Given the description of an element on the screen output the (x, y) to click on. 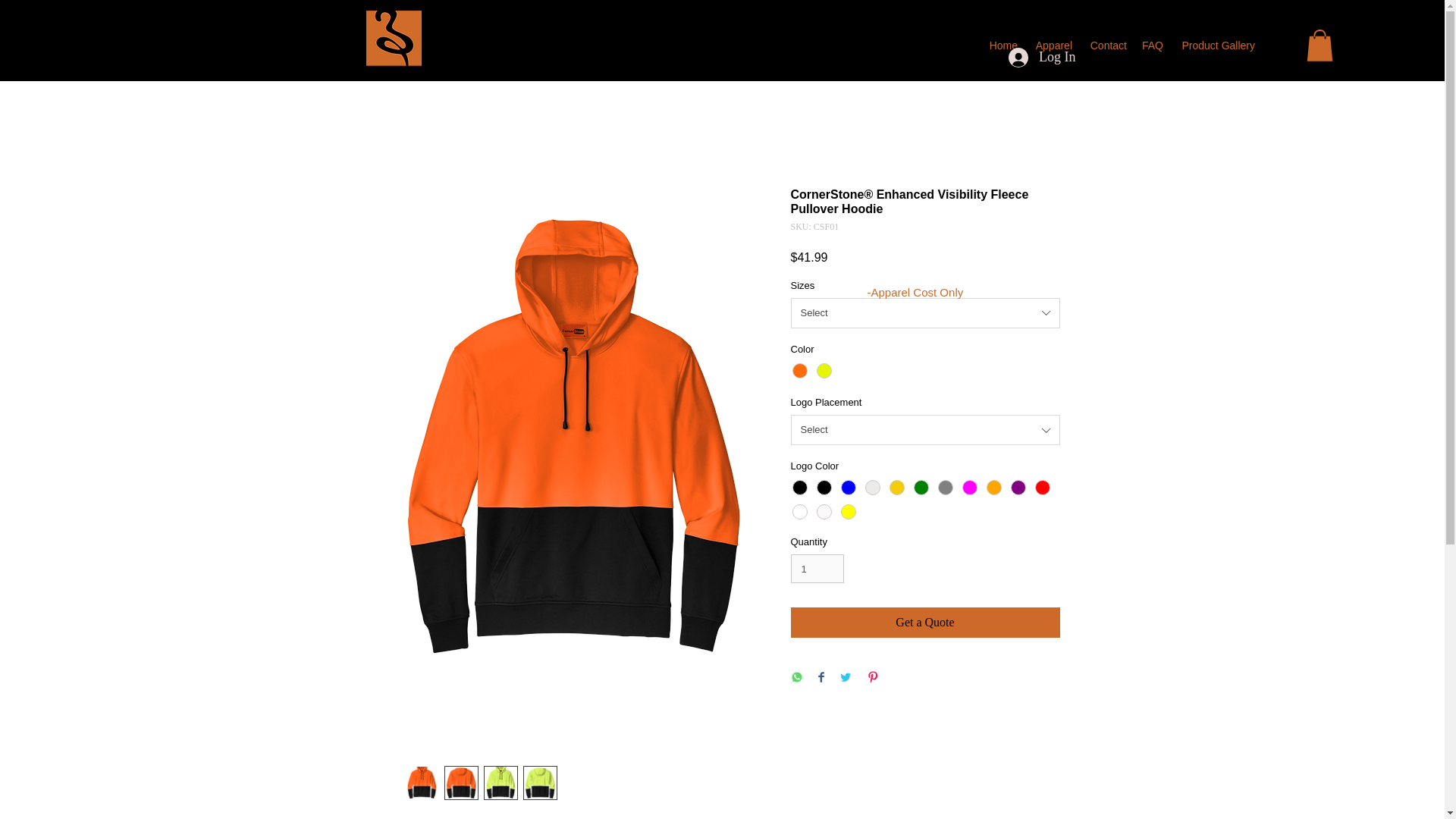
Contact (1107, 45)
FAQ (1151, 45)
Apparel (1052, 45)
1 (817, 568)
Product Gallery (1215, 45)
Get a Quote (924, 622)
Home (1002, 45)
Select (924, 429)
Log In (1041, 57)
Select (924, 313)
